Given the description of an element on the screen output the (x, y) to click on. 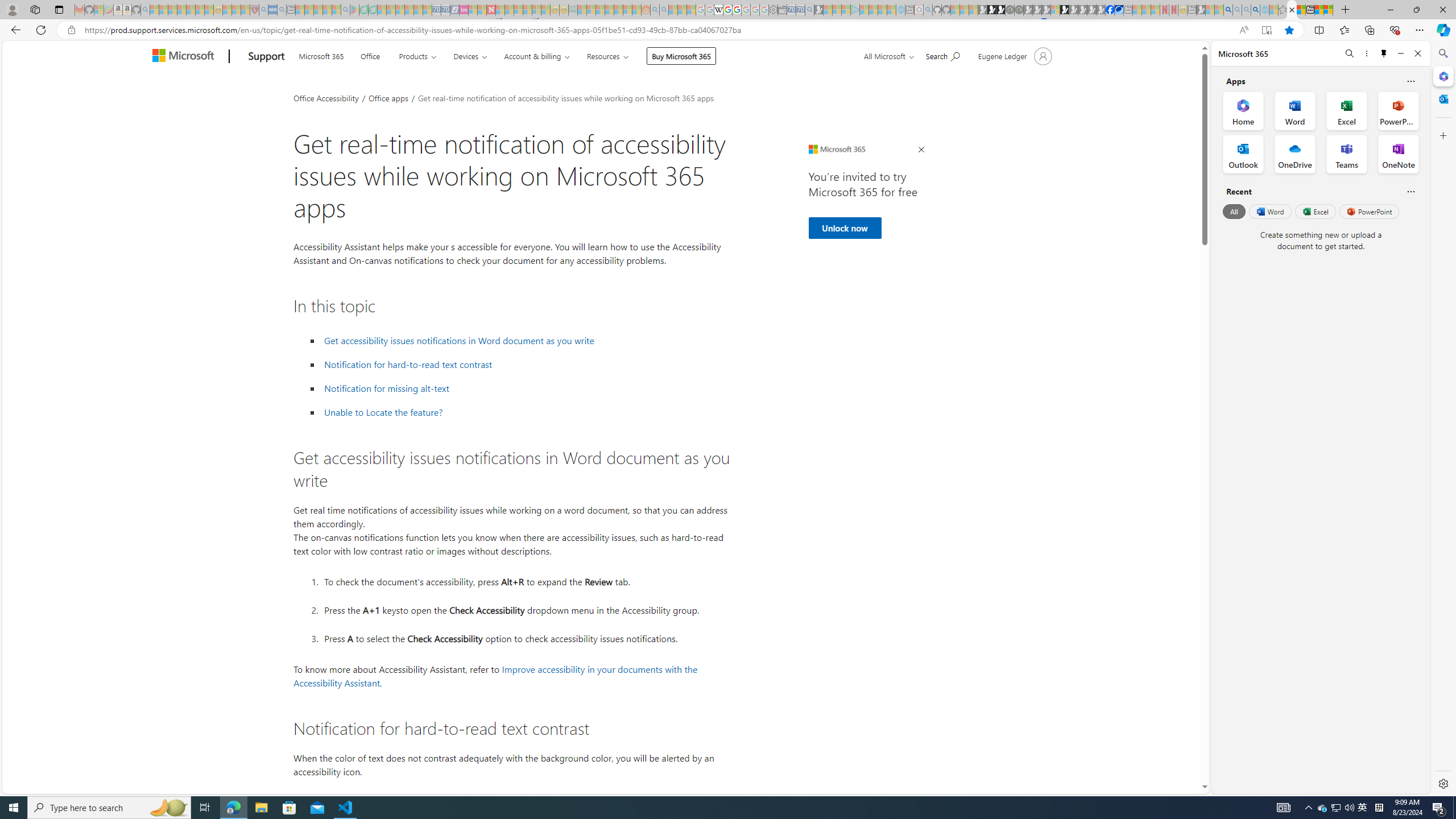
 Notification for hard-to-read text contrast (408, 364)
 Unable to Locate the feature? (383, 412)
Buy Microsoft 365 (681, 55)
